Given the description of an element on the screen output the (x, y) to click on. 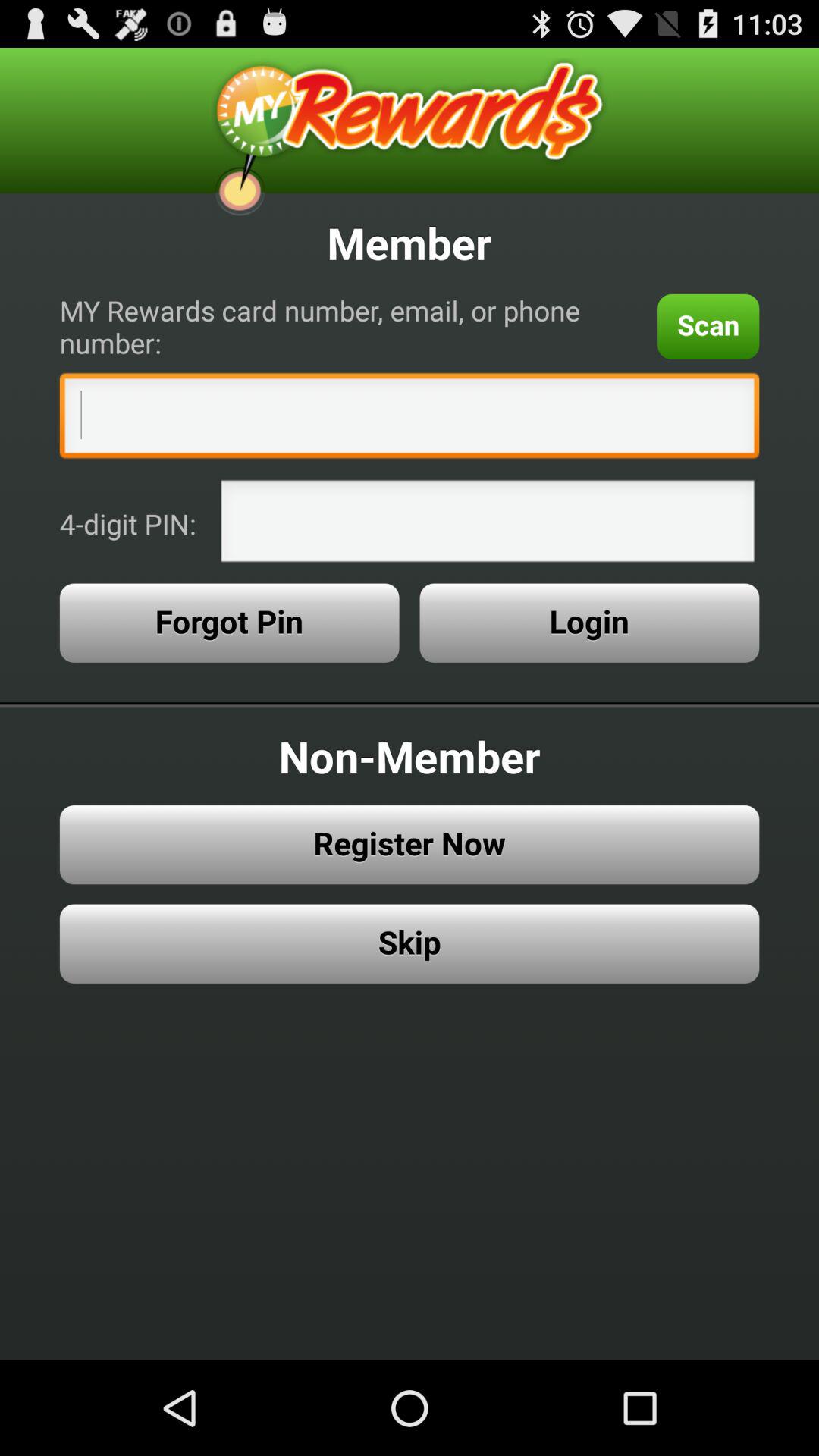
click the button below register now icon (409, 943)
